Given the description of an element on the screen output the (x, y) to click on. 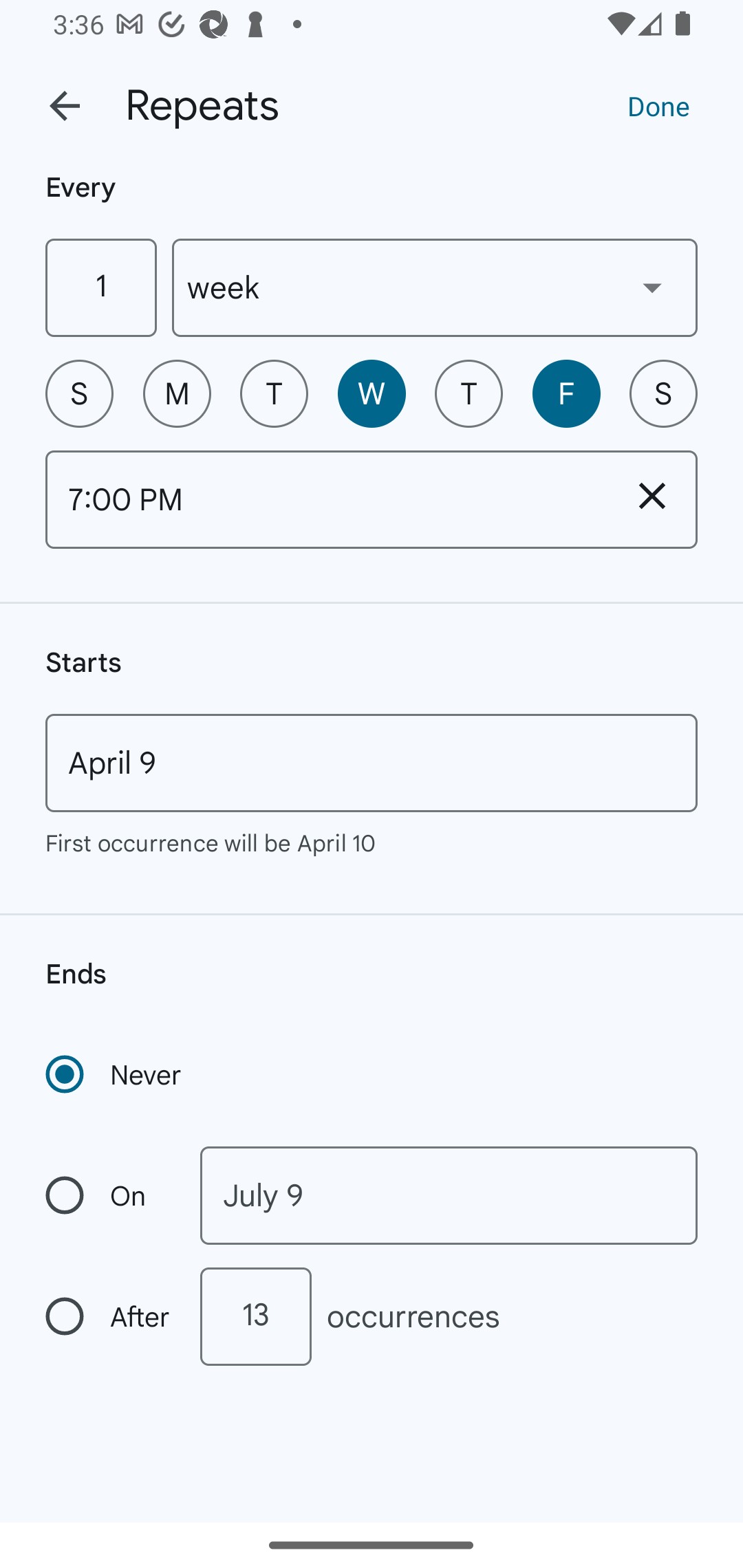
Back (64, 105)
Done (658, 105)
1 (100, 287)
week (434, 287)
Show dropdown menu (652, 286)
S Sunday (79, 393)
M Monday (177, 393)
T Tuesday (273, 393)
W Wednesday, selected (371, 393)
T Thursday (468, 393)
F Friday, selected (566, 393)
S Saturday (663, 393)
7:00 PM (326, 499)
Remove 7:00 PM (652, 495)
April 9 (371, 762)
Never Recurrence never ends (115, 1074)
July 9 (448, 1195)
On Recurrence ends on a specific date (109, 1195)
13 (255, 1315)
